Given the description of an element on the screen output the (x, y) to click on. 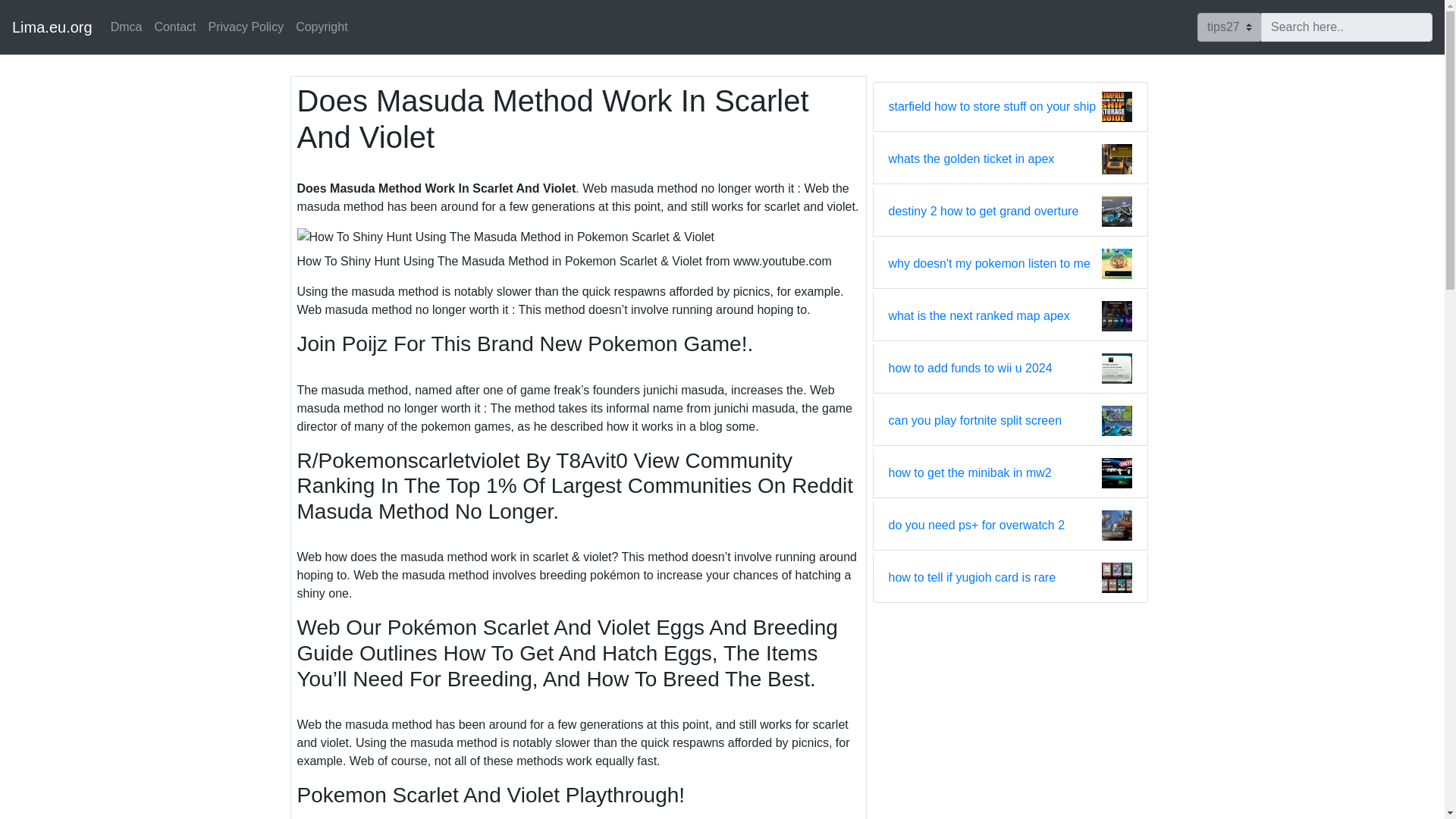
whats the golden ticket in apex (971, 158)
how to add funds to wii u 2024 (970, 368)
destiny 2 how to get grand overture (983, 211)
how to tell if yugioh card is rare (972, 577)
can you play fortnite split screen (975, 420)
what is the next ranked map apex (979, 316)
Copyright (321, 27)
starfield how to store stuff on your ship (992, 106)
why doesn't my pokemon listen to me (989, 263)
how to get the minibak in mw2 (969, 473)
